Given the description of an element on the screen output the (x, y) to click on. 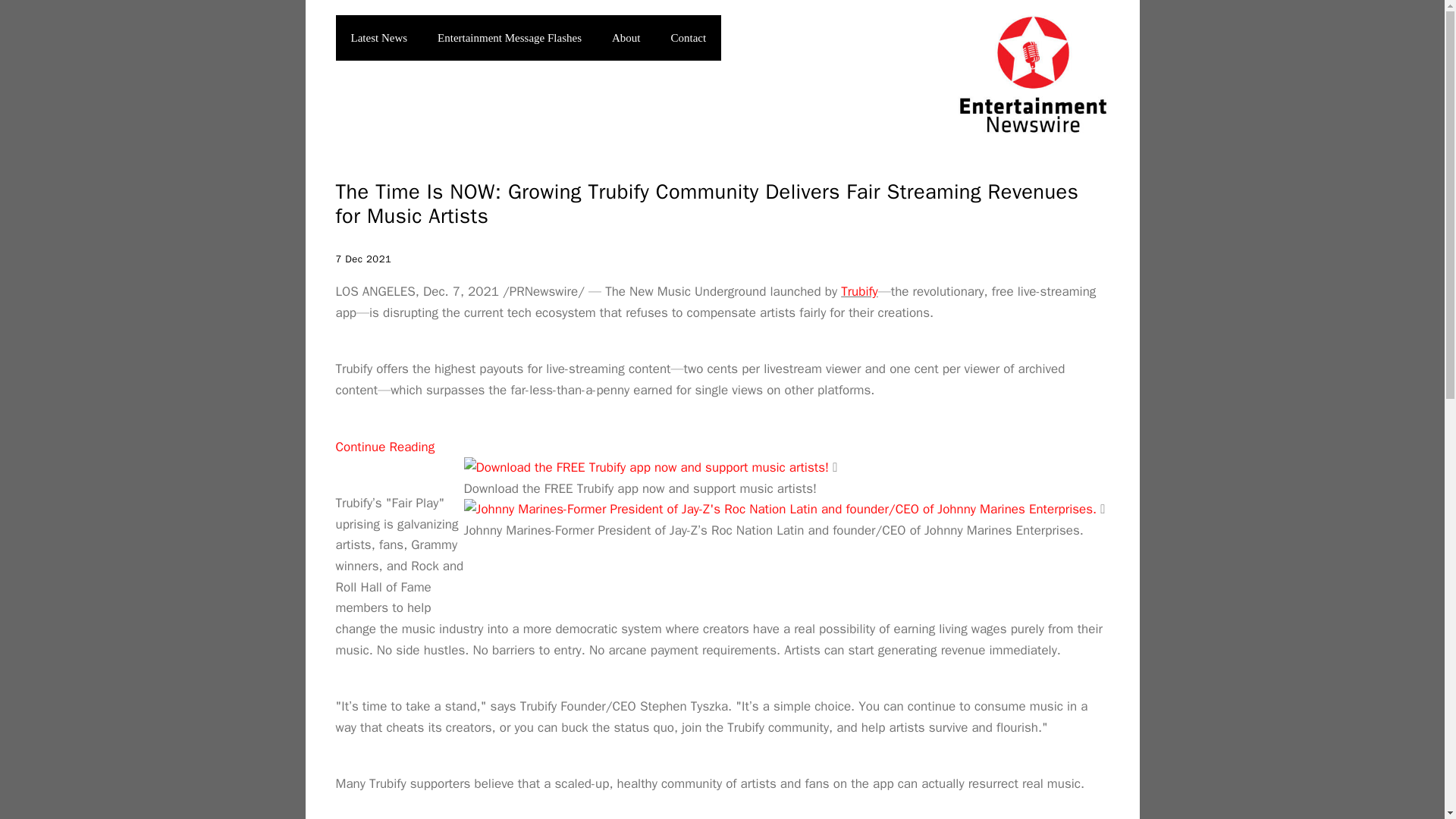
Trubify (859, 291)
Download the FREE Trubify app now and support music artists! (646, 467)
Contact (689, 37)
Latest News (378, 37)
About (626, 37)
Continue Reading (383, 446)
Entertainment Message Flashes (509, 37)
Continue Reading (383, 446)
